Given the description of an element on the screen output the (x, y) to click on. 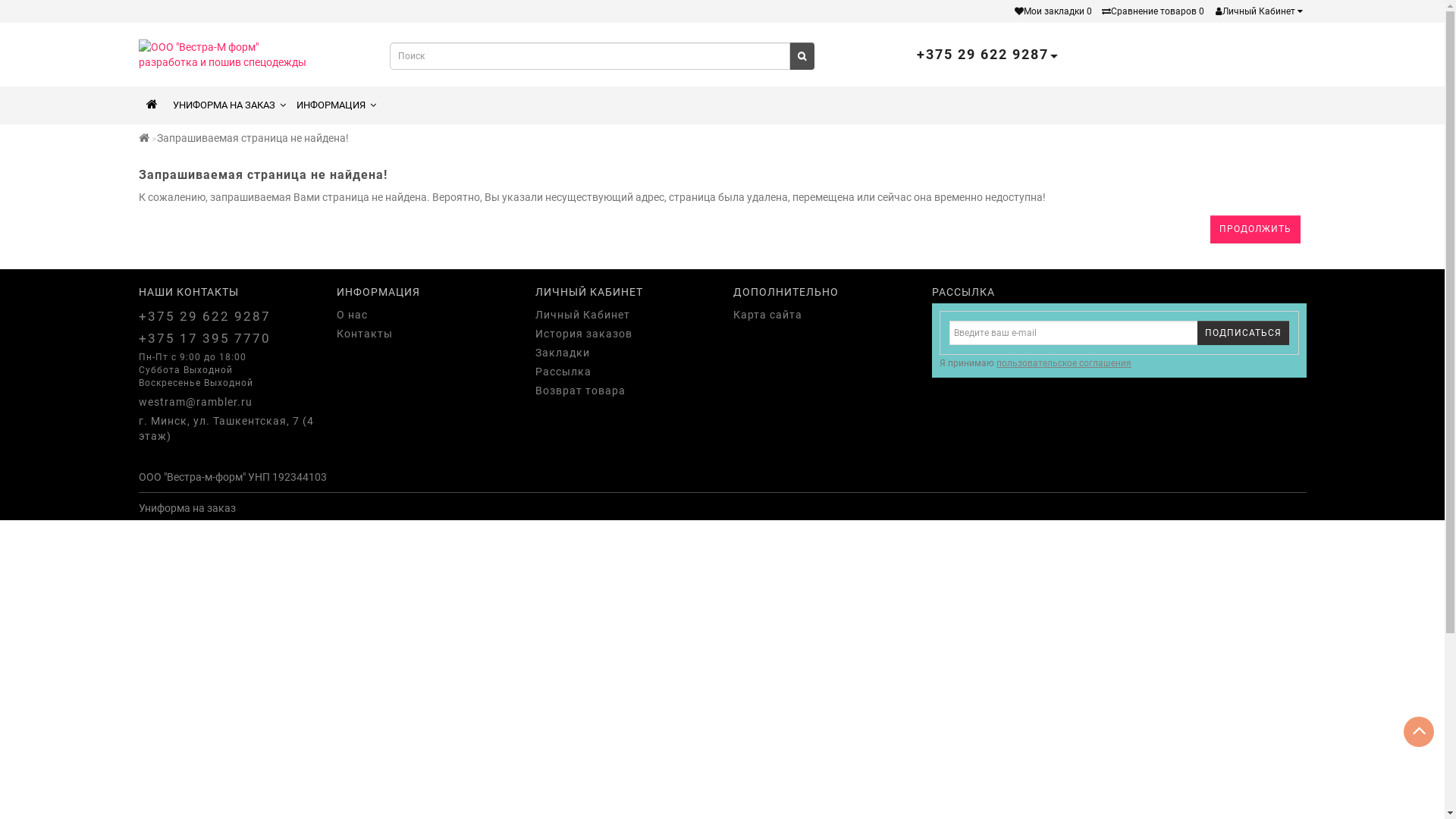
+375 17 395 7770 Element type: text (225, 338)
+375 29 622 9287 Element type: text (225, 316)
westram@rambler.ru Element type: text (225, 401)
